Given the description of an element on the screen output the (x, y) to click on. 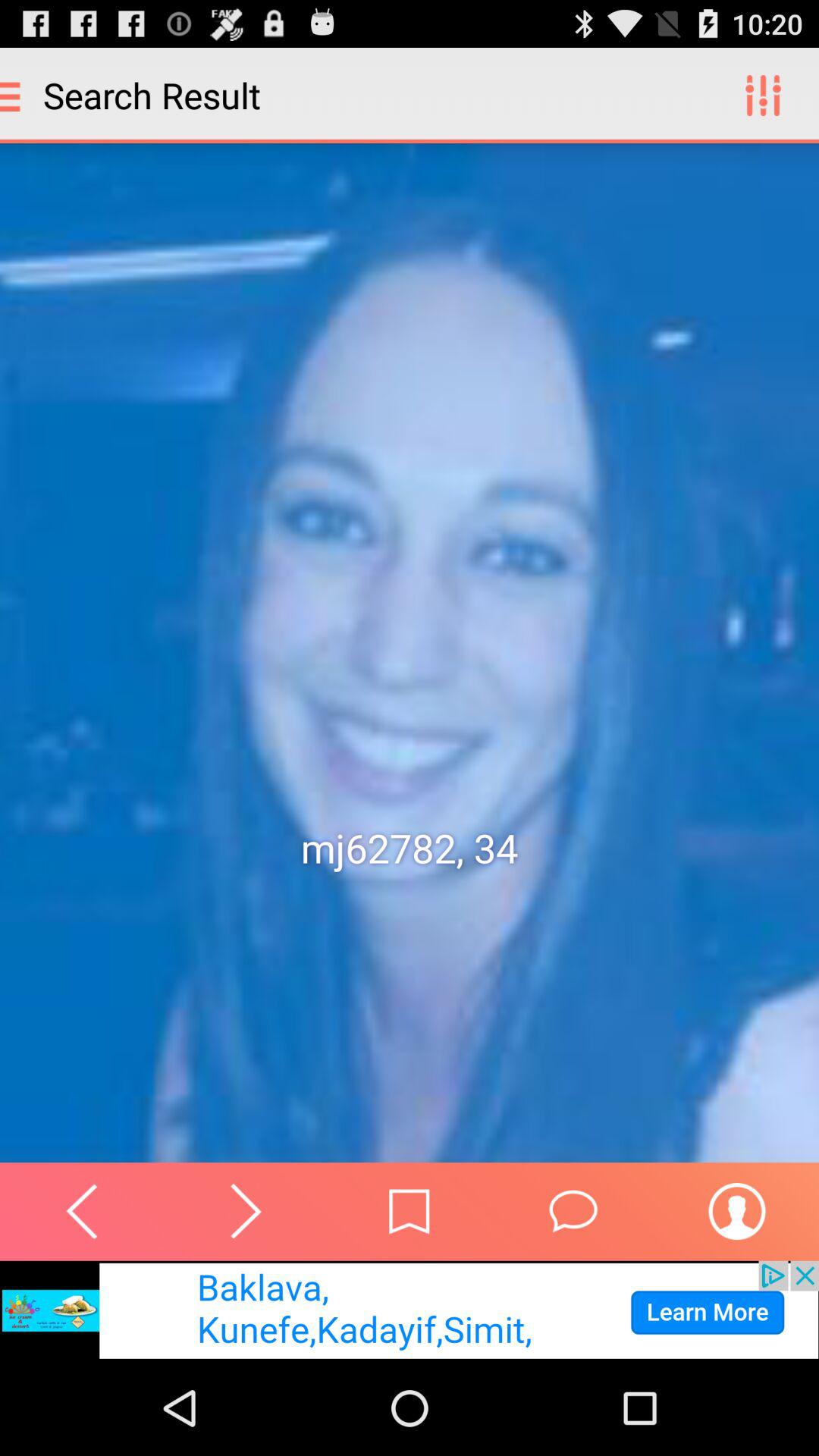
bookmark page (409, 1211)
